Given the description of an element on the screen output the (x, y) to click on. 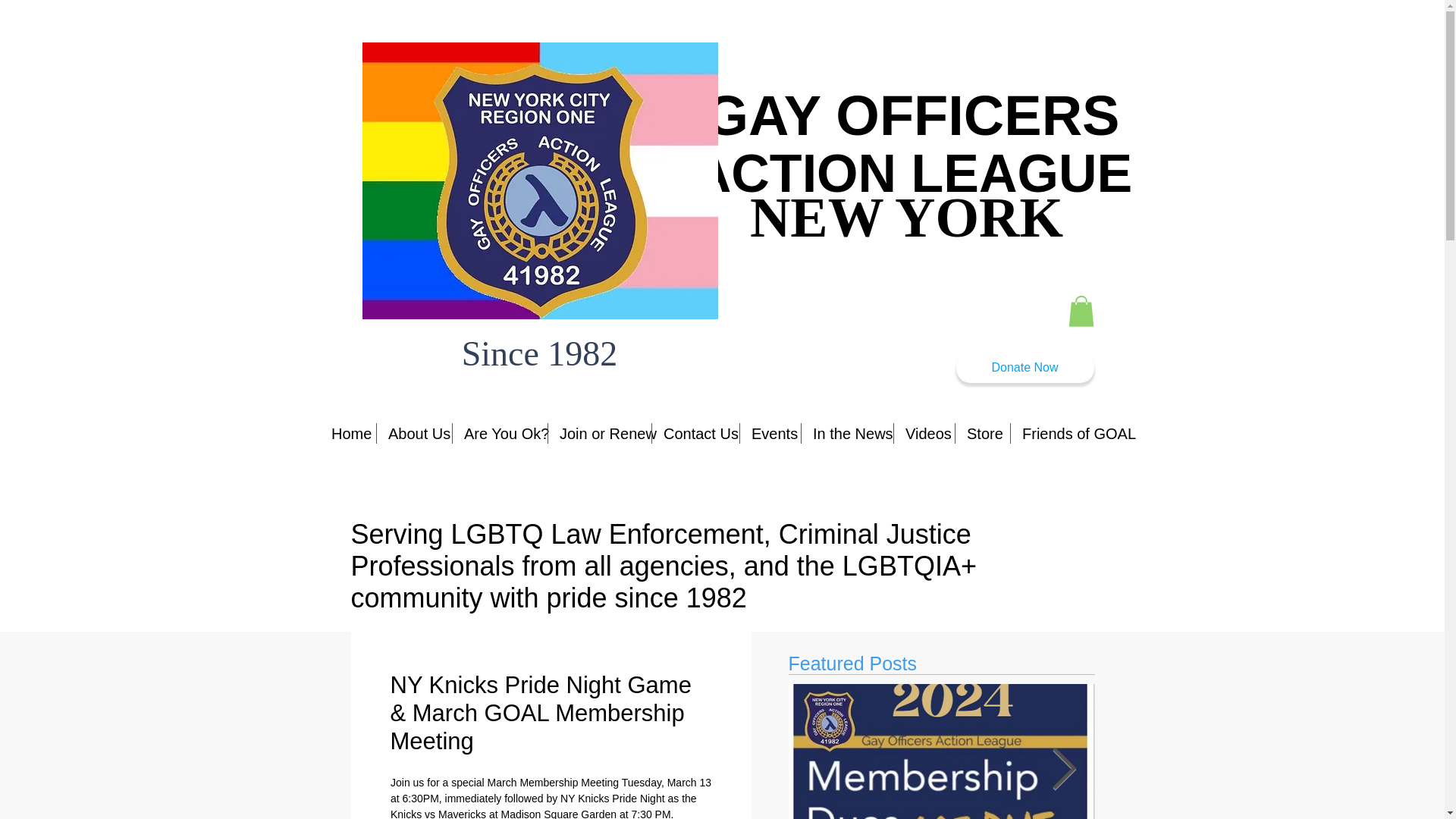
Are You Ok? (499, 433)
Join or Renew (599, 433)
In the News (847, 433)
Contact Us (695, 433)
Events (769, 433)
Donate Now (1024, 368)
Home (347, 433)
About Us (414, 433)
